Given the description of an element on the screen output the (x, y) to click on. 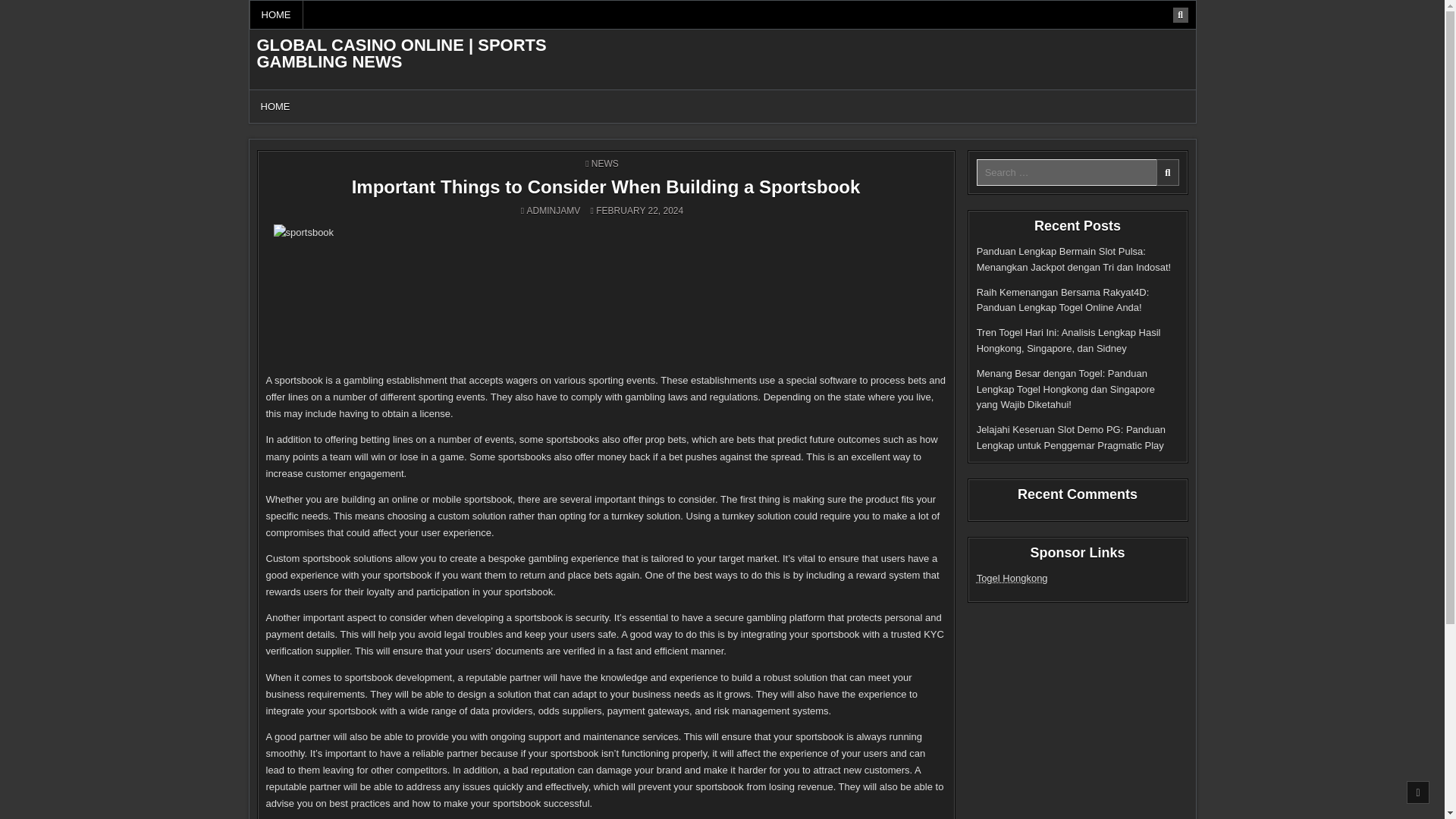
Togel Hongkong (1012, 577)
Important Things to Consider When Building a Sportsbook (606, 186)
NEWS (604, 163)
ADMINJAMV (553, 210)
Scroll to Top (1417, 792)
HOME (275, 14)
SCROLL TO TOP (1417, 792)
